Given the description of an element on the screen output the (x, y) to click on. 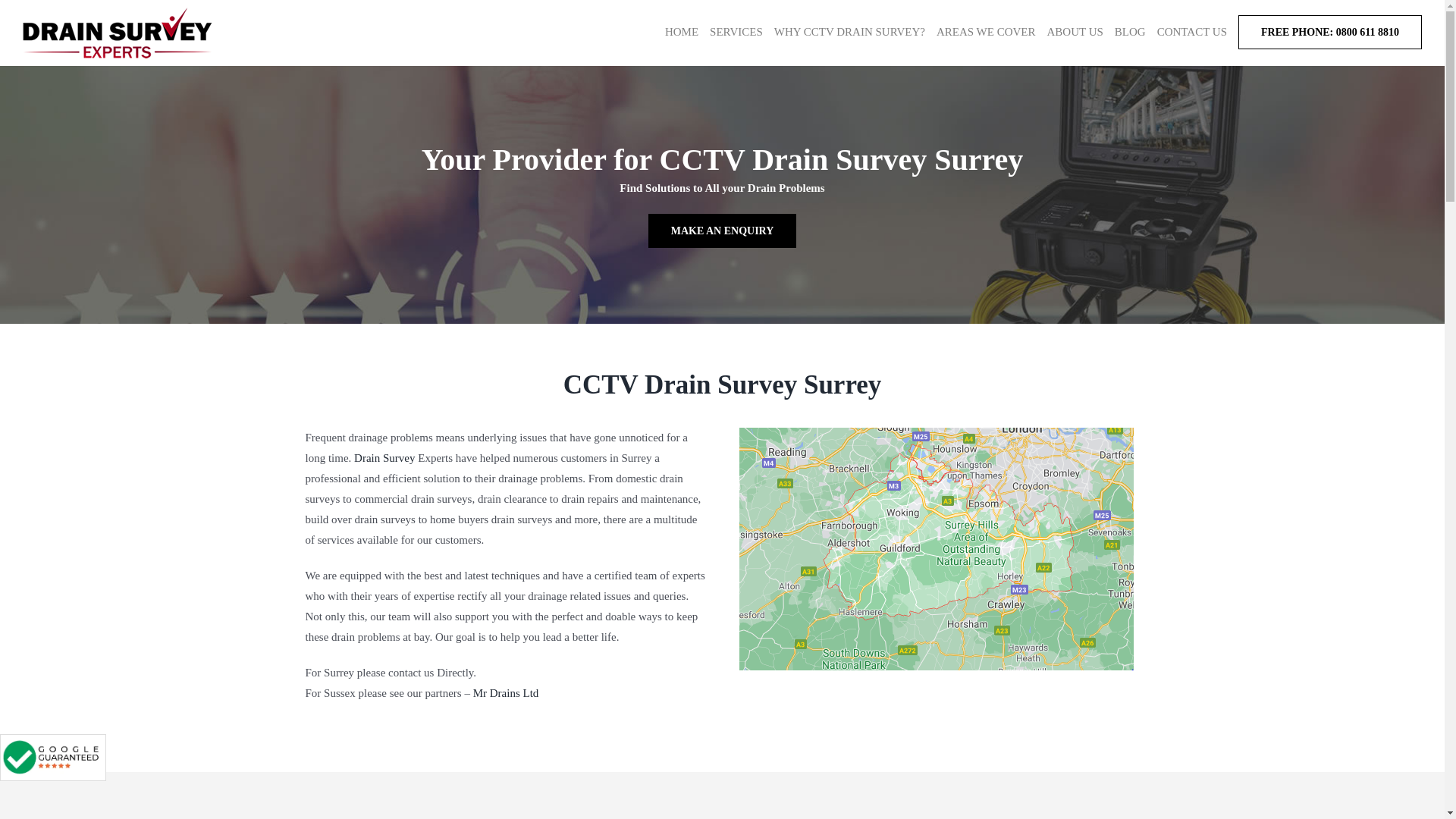
FREE PHONE: 0800 611 8810 (1330, 31)
WHY CCTV DRAIN SURVEY? (849, 31)
AREAS WE COVER (985, 31)
Surrey (935, 548)
Mr Drains Ltd (505, 693)
CONTACT US (1192, 31)
Drain Survey (383, 458)
MAKE AN ENQUIRY (721, 230)
